Given the description of an element on the screen output the (x, y) to click on. 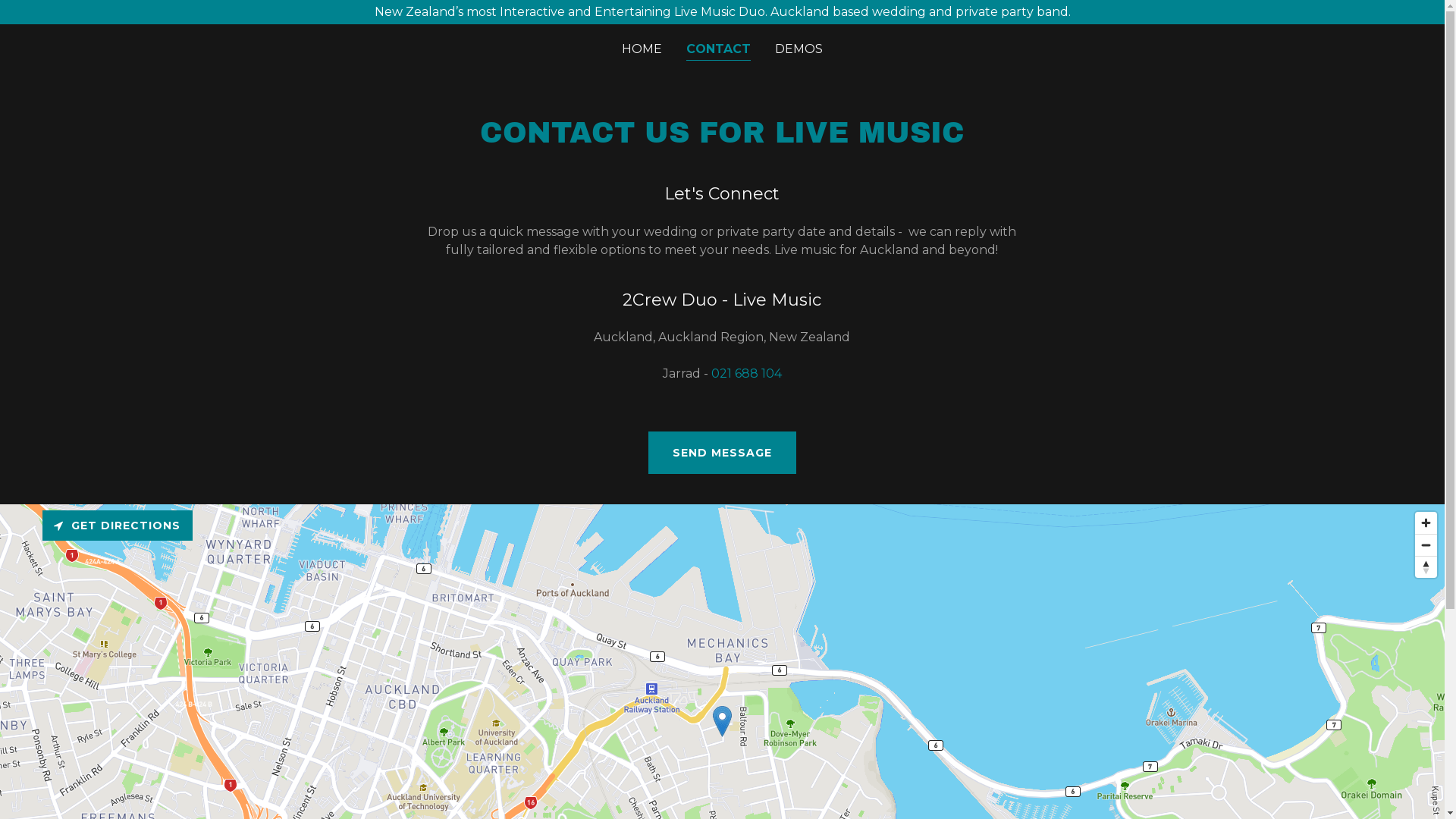
CONTACT Element type: text (718, 50)
HOME Element type: text (641, 48)
Zoom in Element type: hover (1426, 522)
SEND MESSAGE Element type: text (722, 452)
021 688 104 Element type: text (746, 373)
Zoom out Element type: hover (1426, 544)
DEMOS Element type: text (798, 48)
GET DIRECTIONS Element type: text (117, 525)
Reset bearing to north Element type: hover (1426, 566)
